Given the description of an element on the screen output the (x, y) to click on. 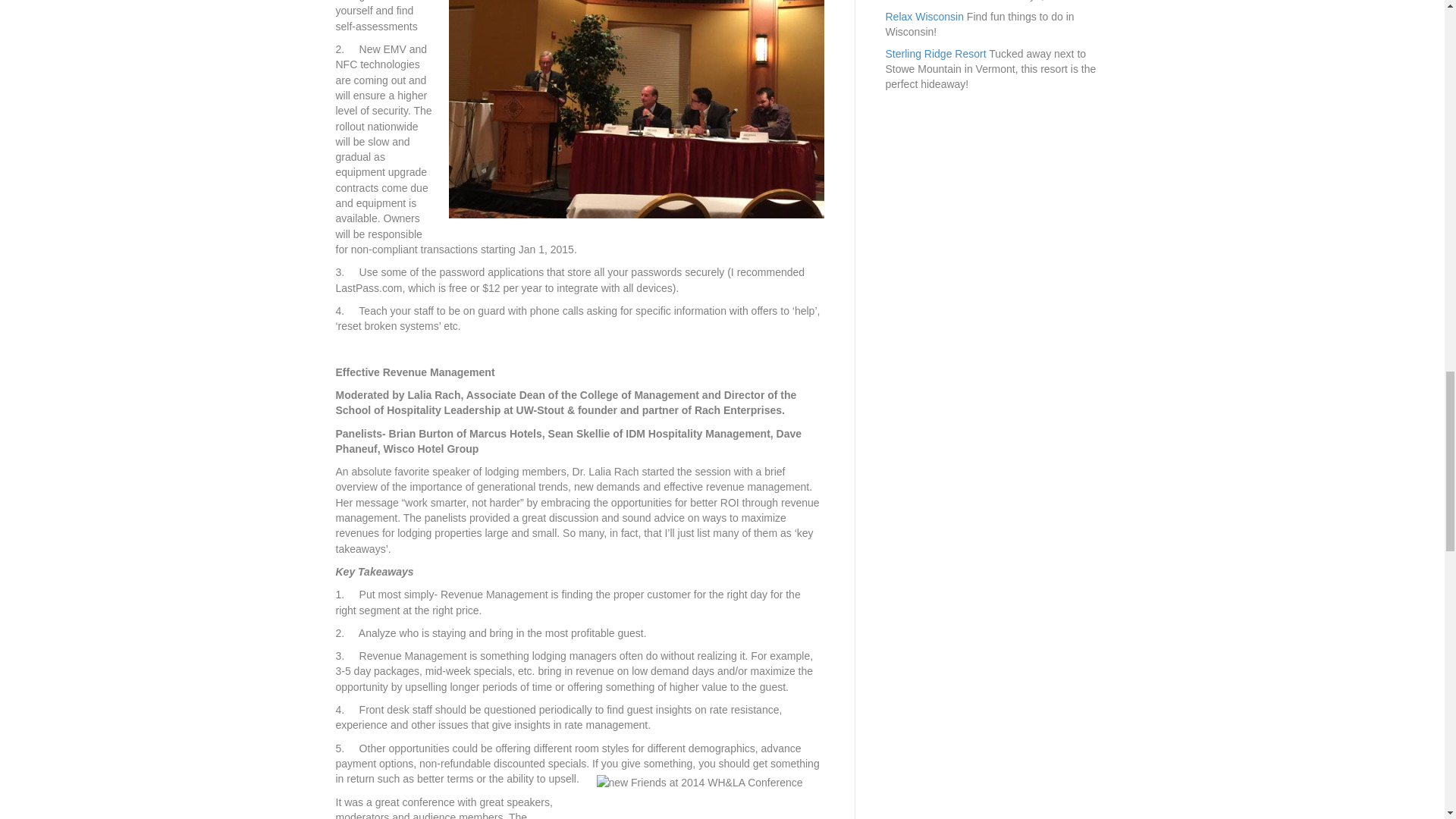
Relax Wisconsin (924, 16)
Sterling Ridge Resort (936, 53)
